Given the description of an element on the screen output the (x, y) to click on. 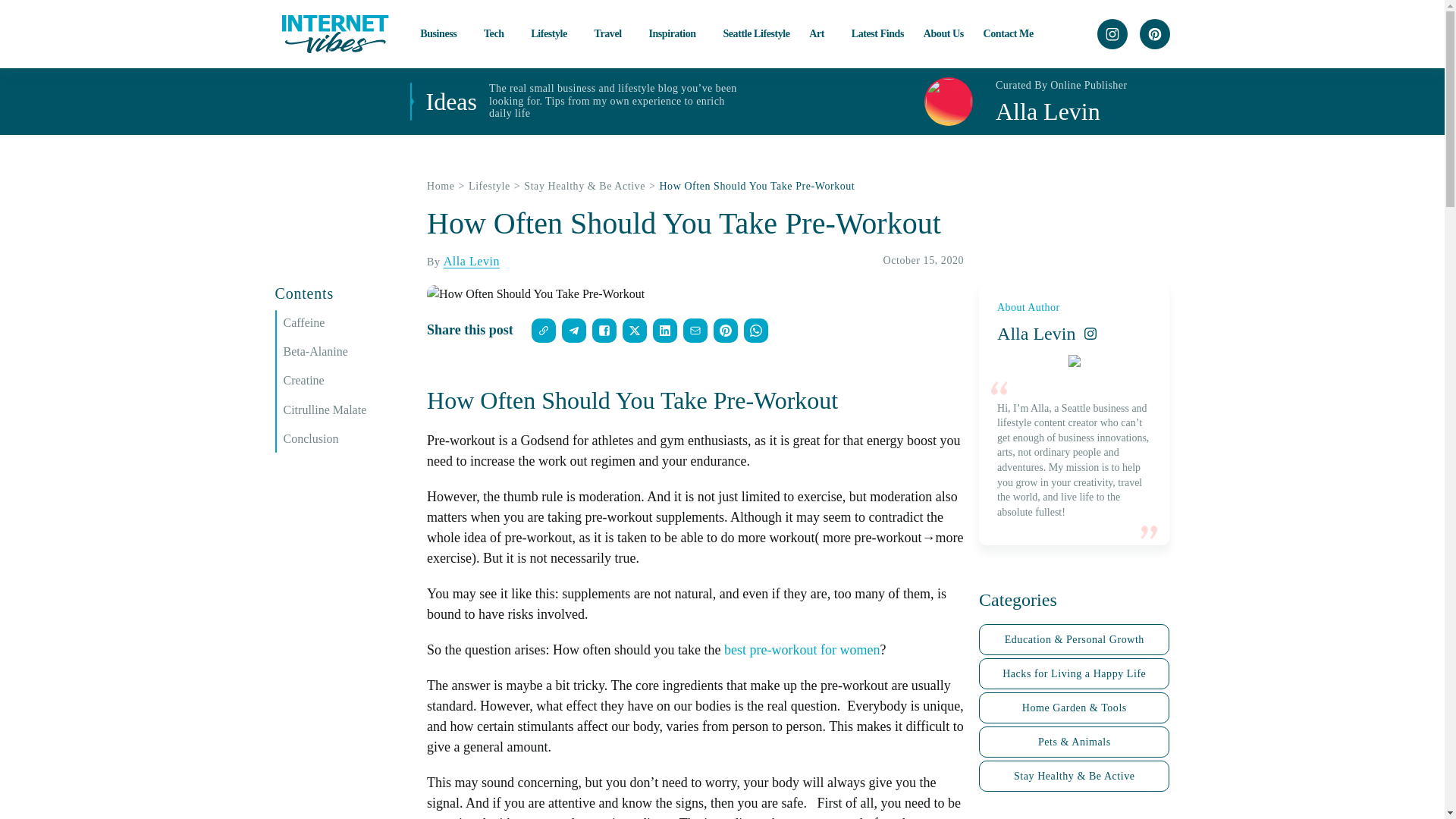
Citrulline Malate (347, 410)
Creatine (347, 380)
Lifestyle (553, 33)
Inspiration (675, 33)
Travel (611, 33)
Conclusion (347, 438)
Caffeine (347, 322)
Beta-Alanine (347, 351)
Tech (497, 33)
Business (442, 33)
